Given the description of an element on the screen output the (x, y) to click on. 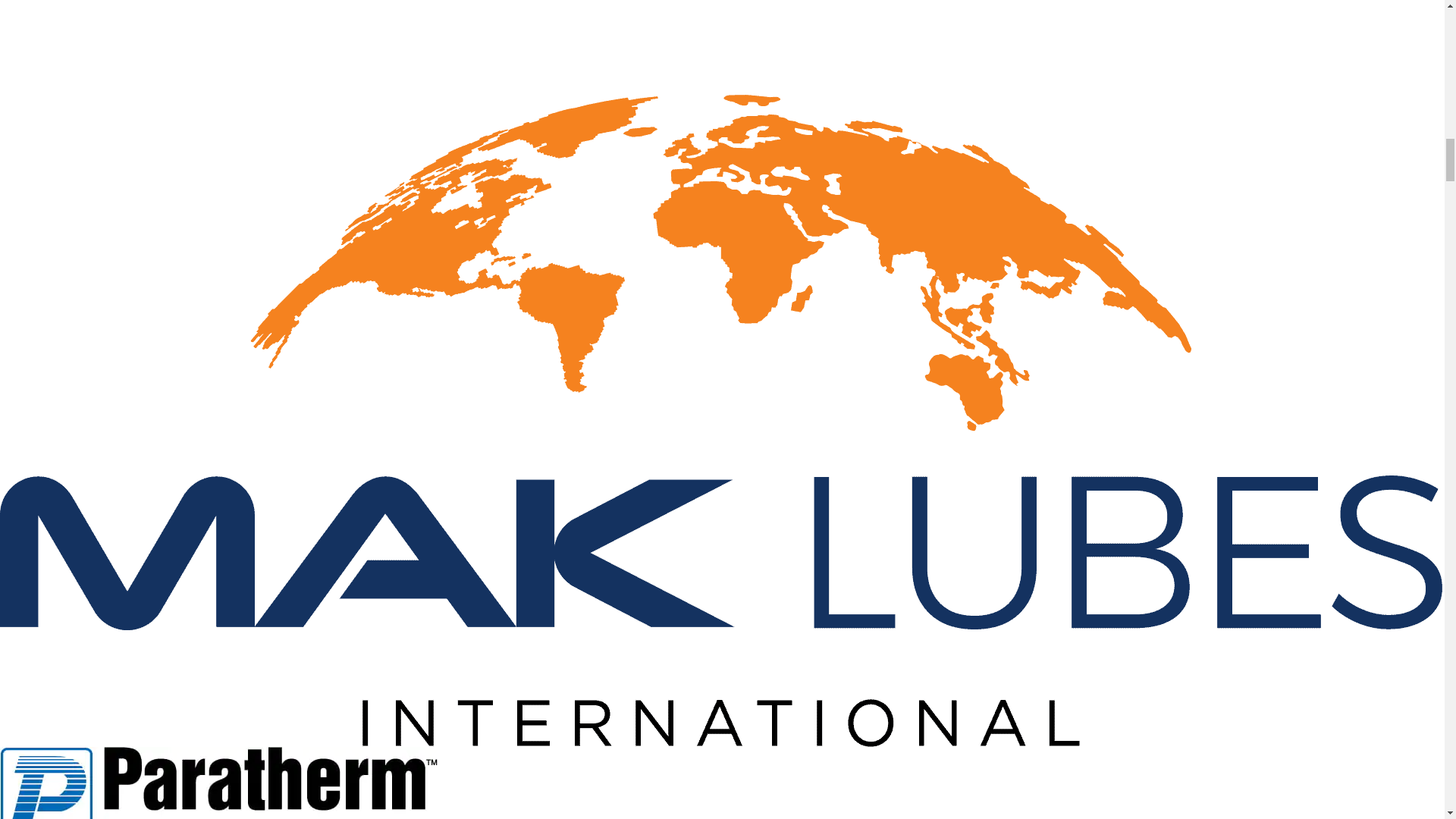
Paratherm (219, 782)
Solest (379, 47)
